Given the description of an element on the screen output the (x, y) to click on. 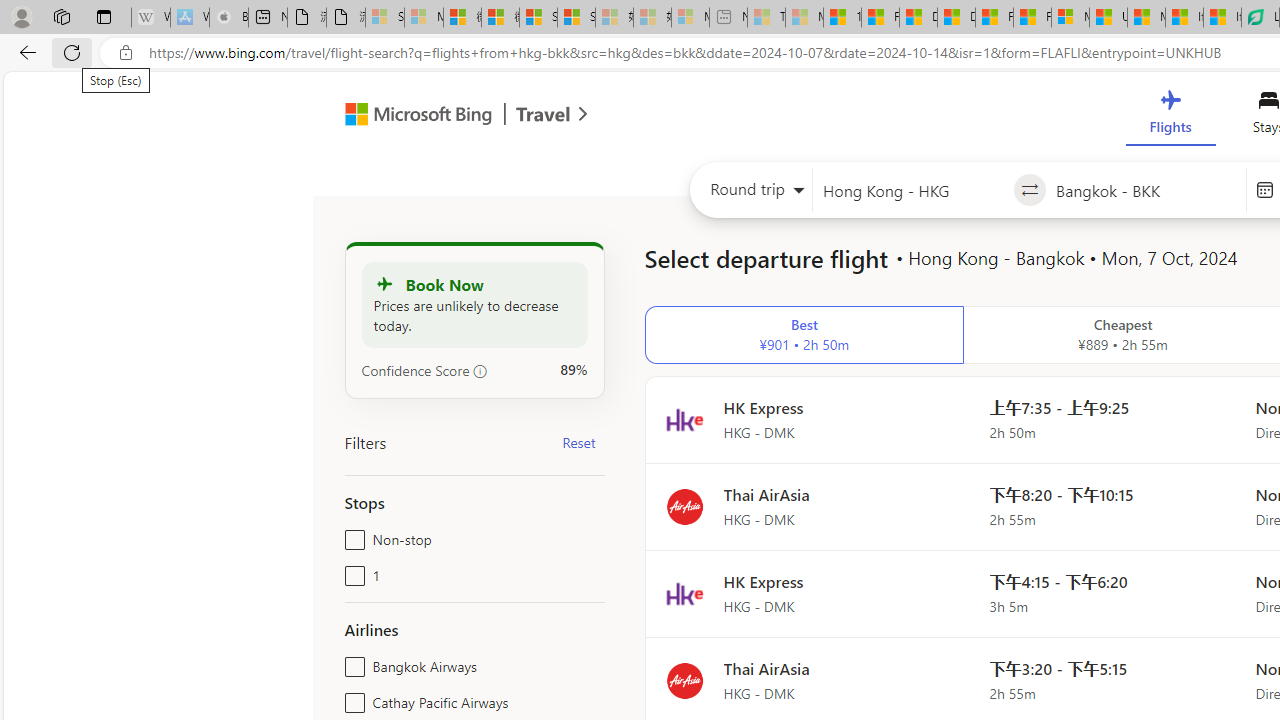
Personal Profile (21, 16)
New tab - Sleeping (728, 17)
US Heat Deaths Soared To Record High Last Year (1108, 17)
Class: msft-bing-logo msft-bing-logo-desktop (413, 114)
Info tooltip (480, 371)
Drinking tea every day is proven to delay biological aging (956, 17)
Flight logo (684, 680)
Travel (543, 116)
Class: msft-travel-logo (543, 114)
Reset (578, 442)
Workspaces (61, 16)
New tab (267, 17)
Microsoft Start (1145, 17)
